Given the description of an element on the screen output the (x, y) to click on. 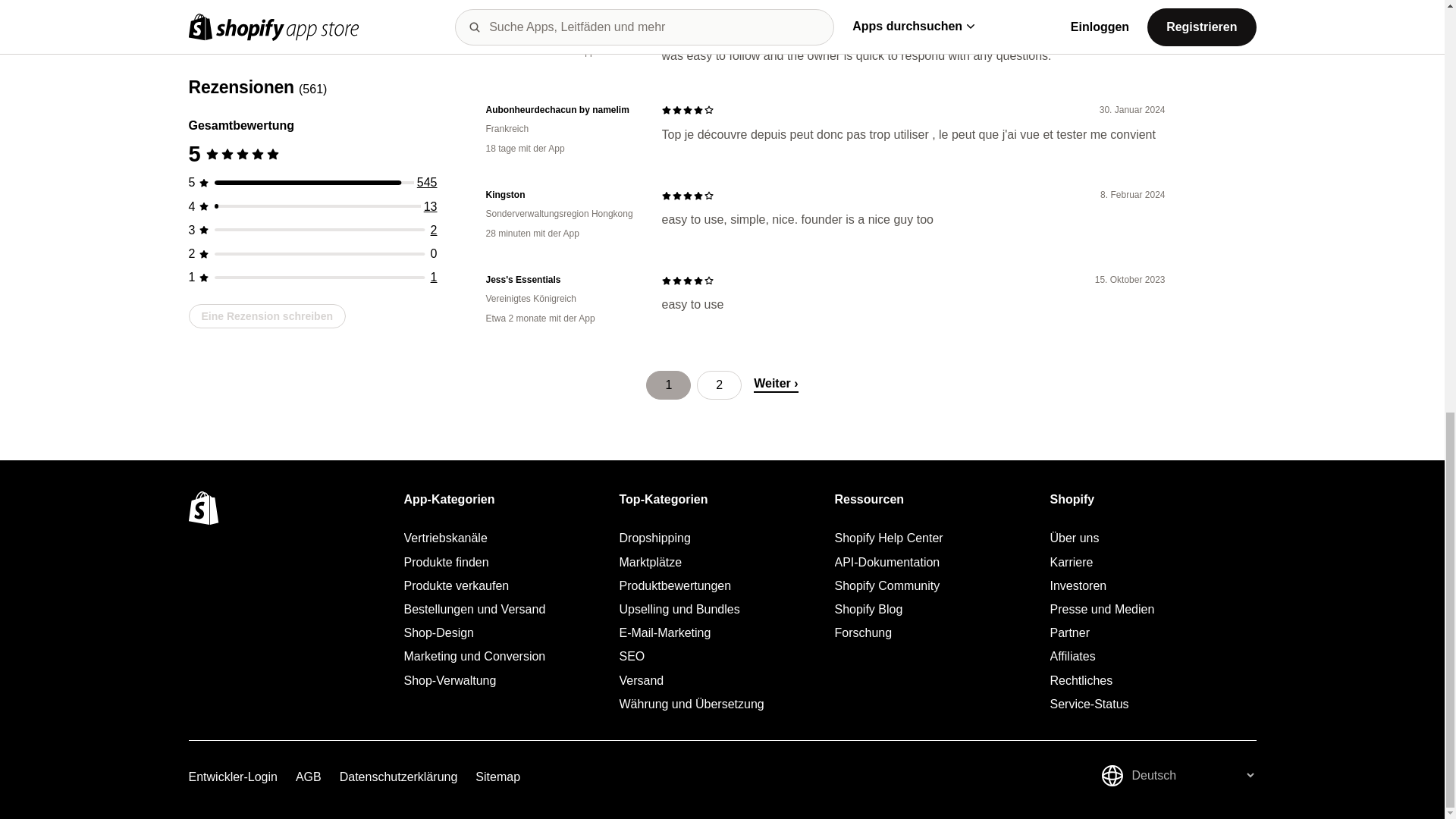
Kingston (560, 195)
Ocean Star Line (560, 12)
Aubonheurdechacun by namelim (560, 110)
Jess's Essentials (560, 279)
